Given the description of an element on the screen output the (x, y) to click on. 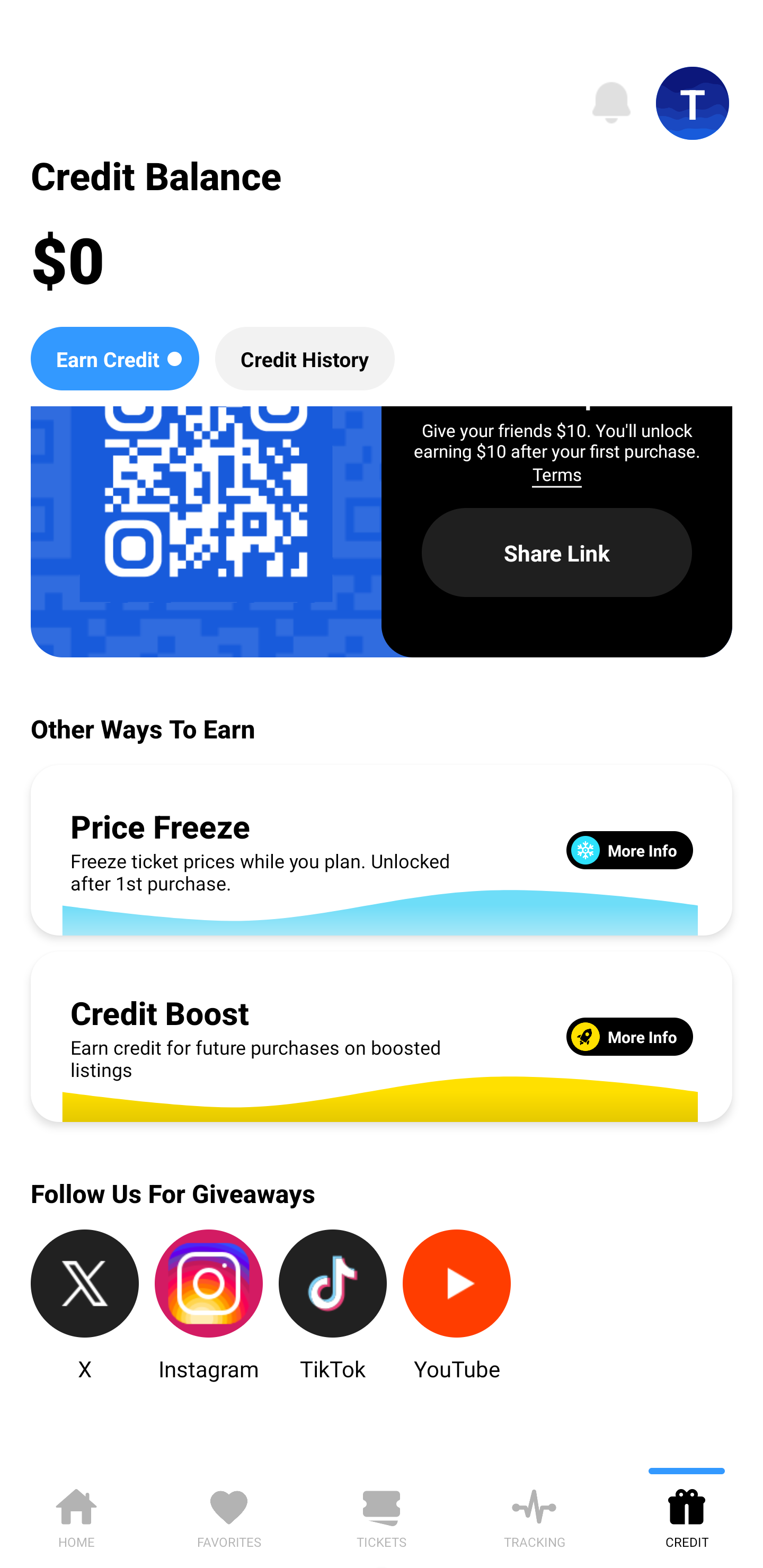
T (692, 103)
Earn Credit (114, 358)
Credit History (304, 358)
Share Link (556, 552)
More Info (629, 849)
More Info (629, 1036)
X (84, 1305)
Instagram (208, 1305)
TikTok (332, 1305)
YouTube (456, 1305)
HOME (76, 1515)
FAVORITES (228, 1515)
TICKETS (381, 1515)
TRACKING (533, 1515)
CREDIT (686, 1515)
